Given the description of an element on the screen output the (x, y) to click on. 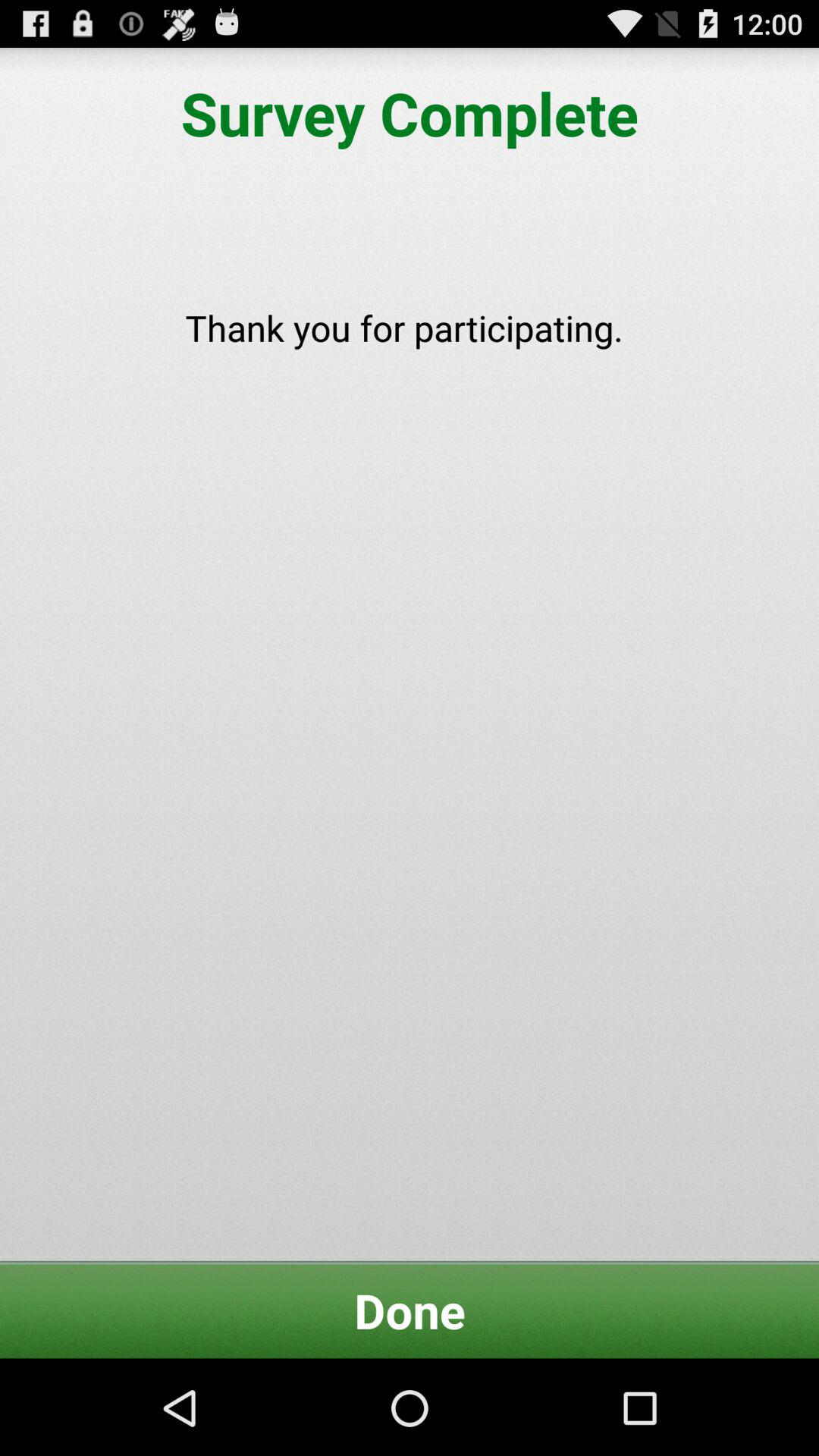
turn off done at the bottom (409, 1310)
